Given the description of an element on the screen output the (x, y) to click on. 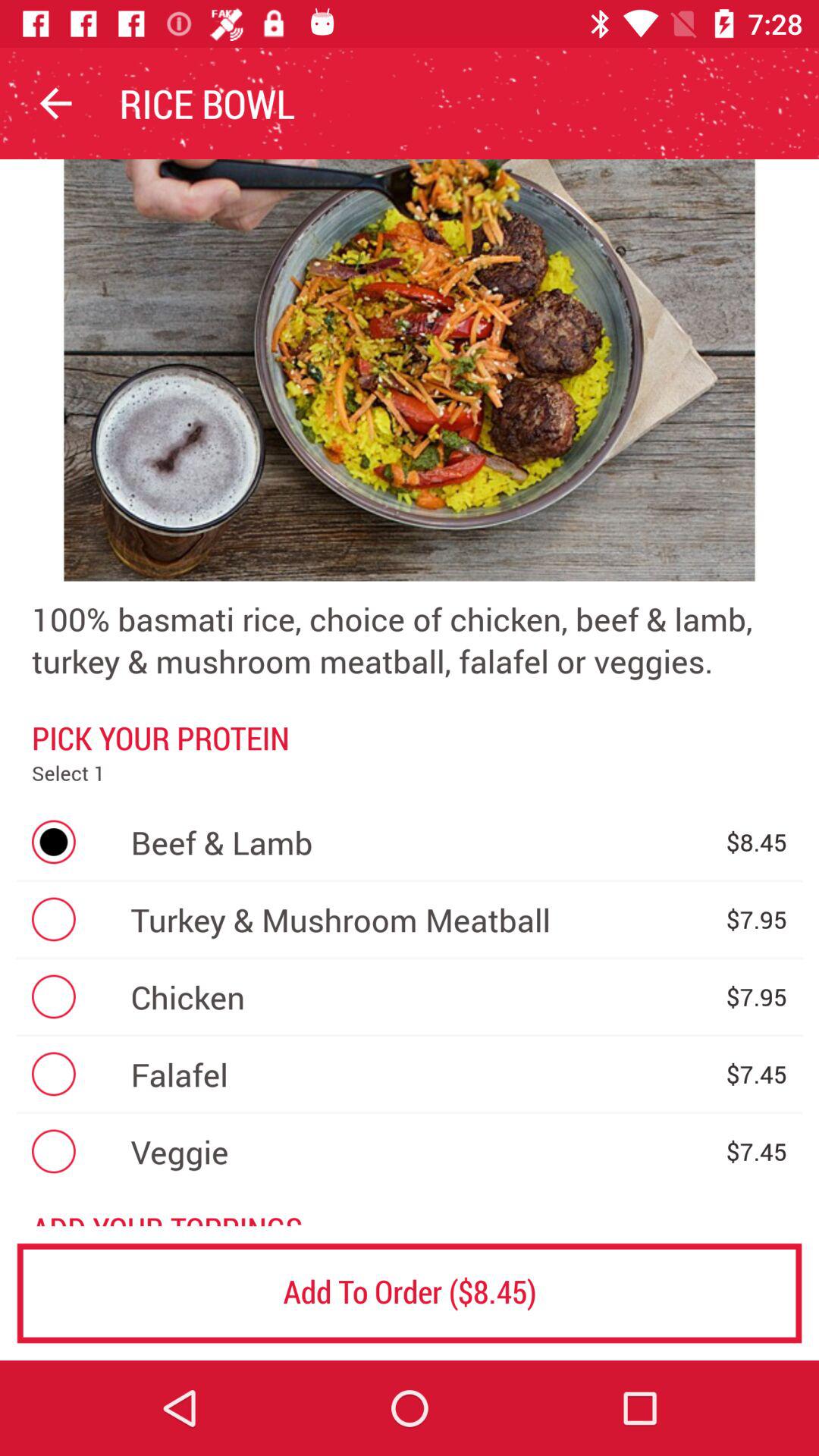
turn on the icon next to the rice bowl app (55, 103)
